Given the description of an element on the screen output the (x, y) to click on. 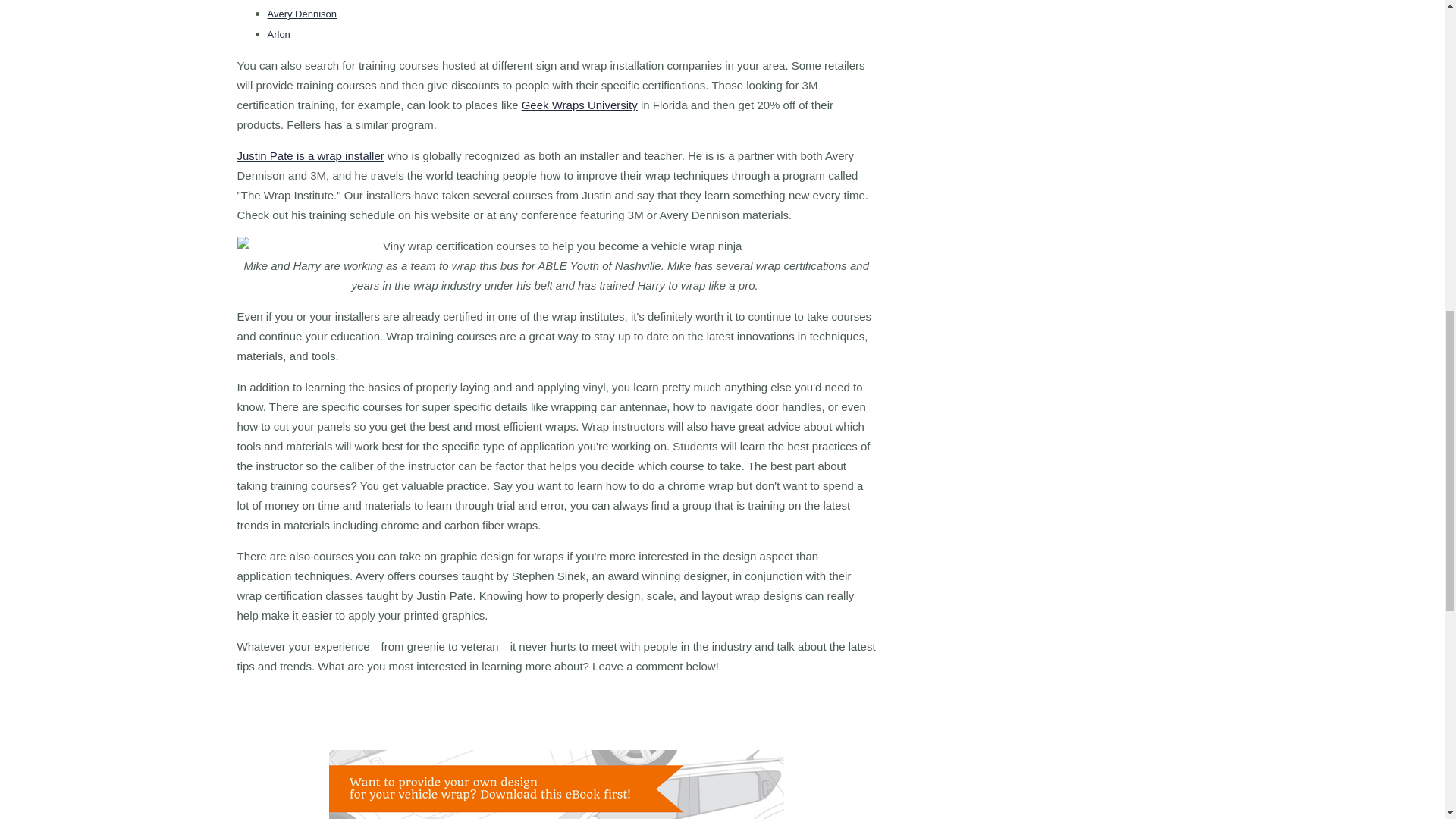
Arlon (277, 34)
Avery Dennison (301, 13)
Justin Pate is a wrap installer (309, 155)
Geek Wraps University (579, 104)
